Given the description of an element on the screen output the (x, y) to click on. 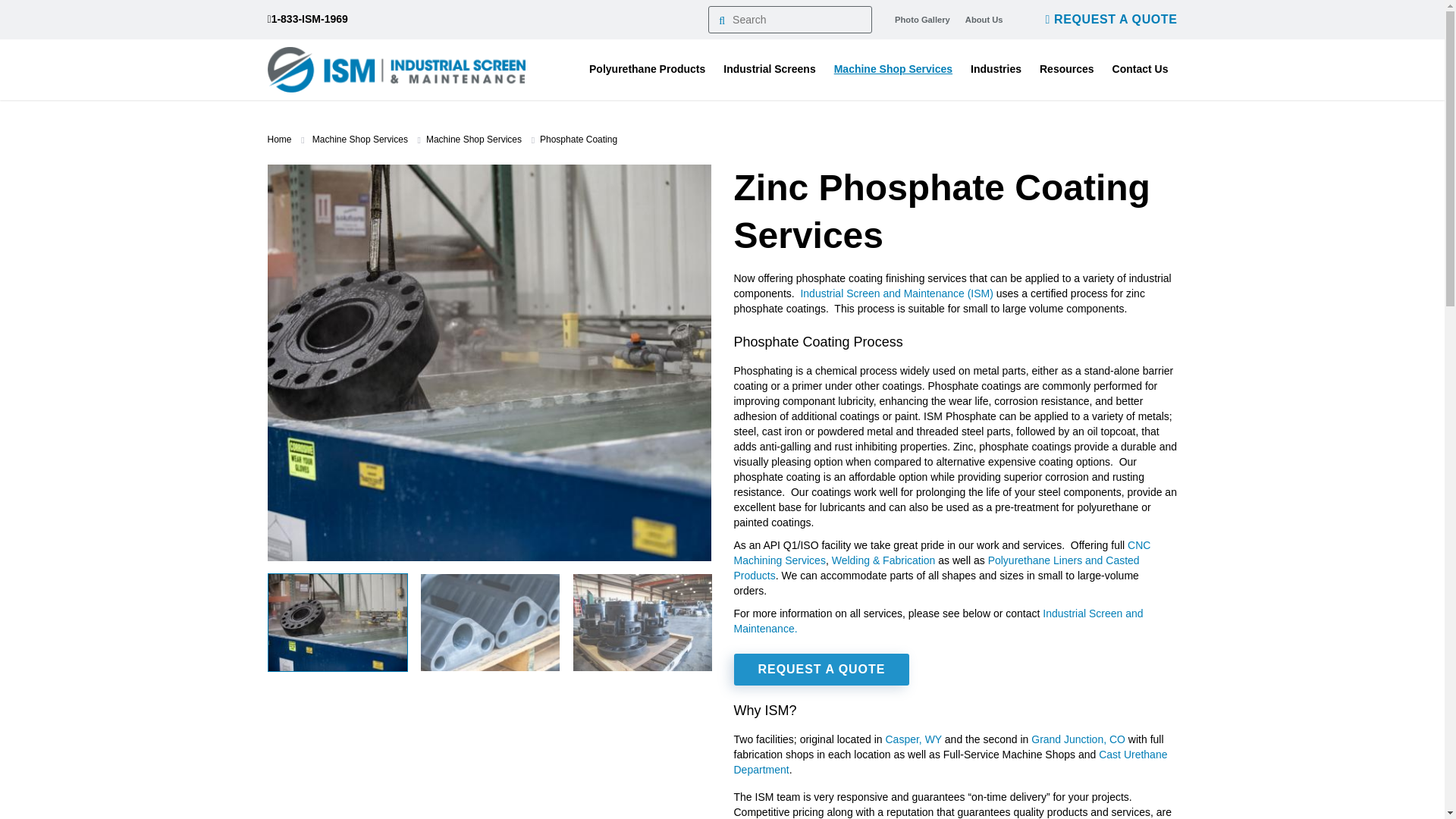
Polyurethane Products (646, 69)
Photo Gallery (922, 19)
1-833-ISM-1969 (306, 19)
About Us (984, 19)
REQUEST A QUOTE (1111, 19)
Industrial Screens (769, 69)
